Given the description of an element on the screen output the (x, y) to click on. 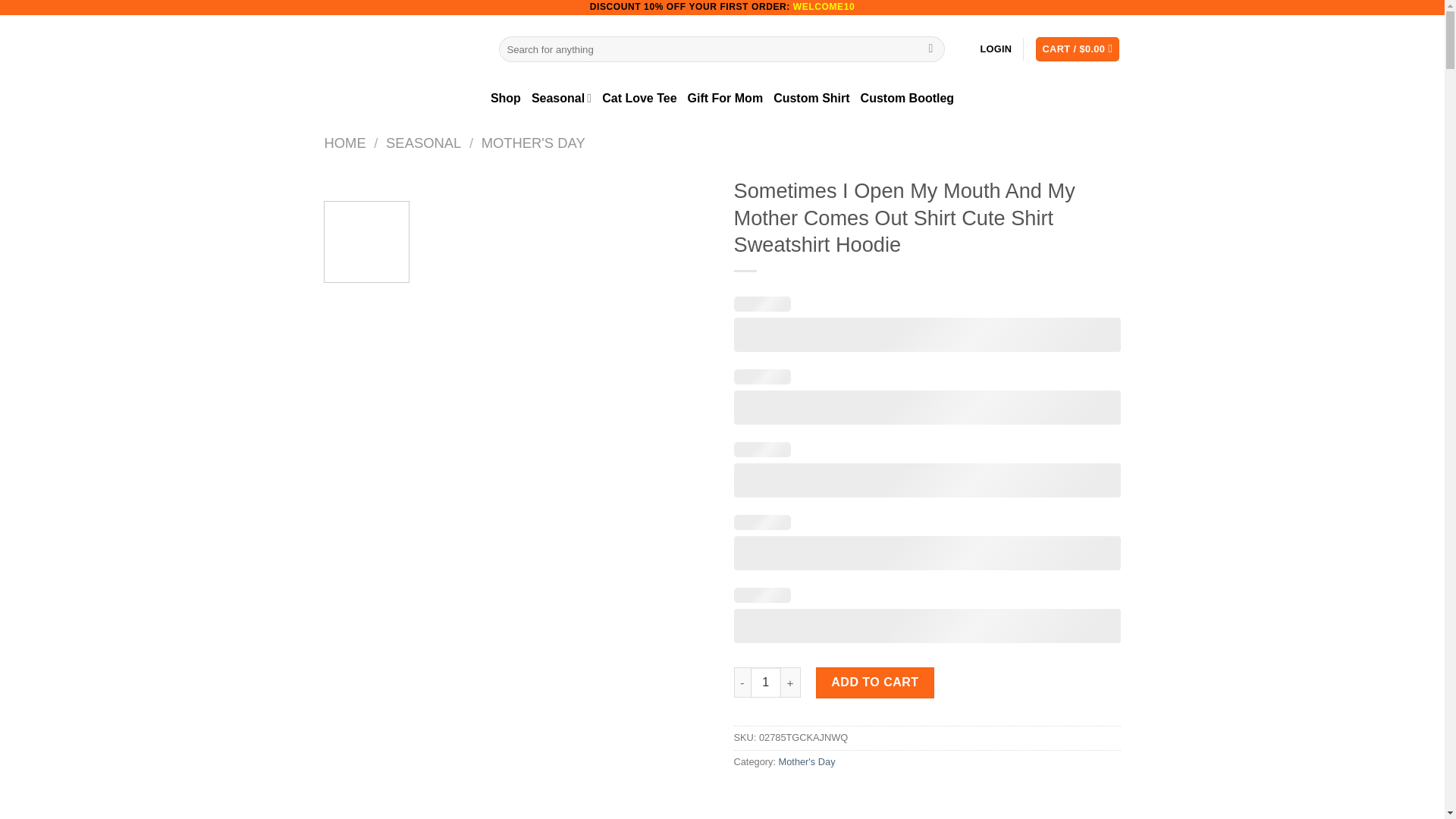
1 (765, 682)
LOGIN (995, 49)
Cart (1077, 49)
Shop (505, 98)
TrendingTeesToday (400, 49)
SEASONAL (423, 142)
Search (930, 49)
Seasonal (561, 98)
ADD TO CART (874, 682)
MOTHER'S DAY (533, 142)
